Given the description of an element on the screen output the (x, y) to click on. 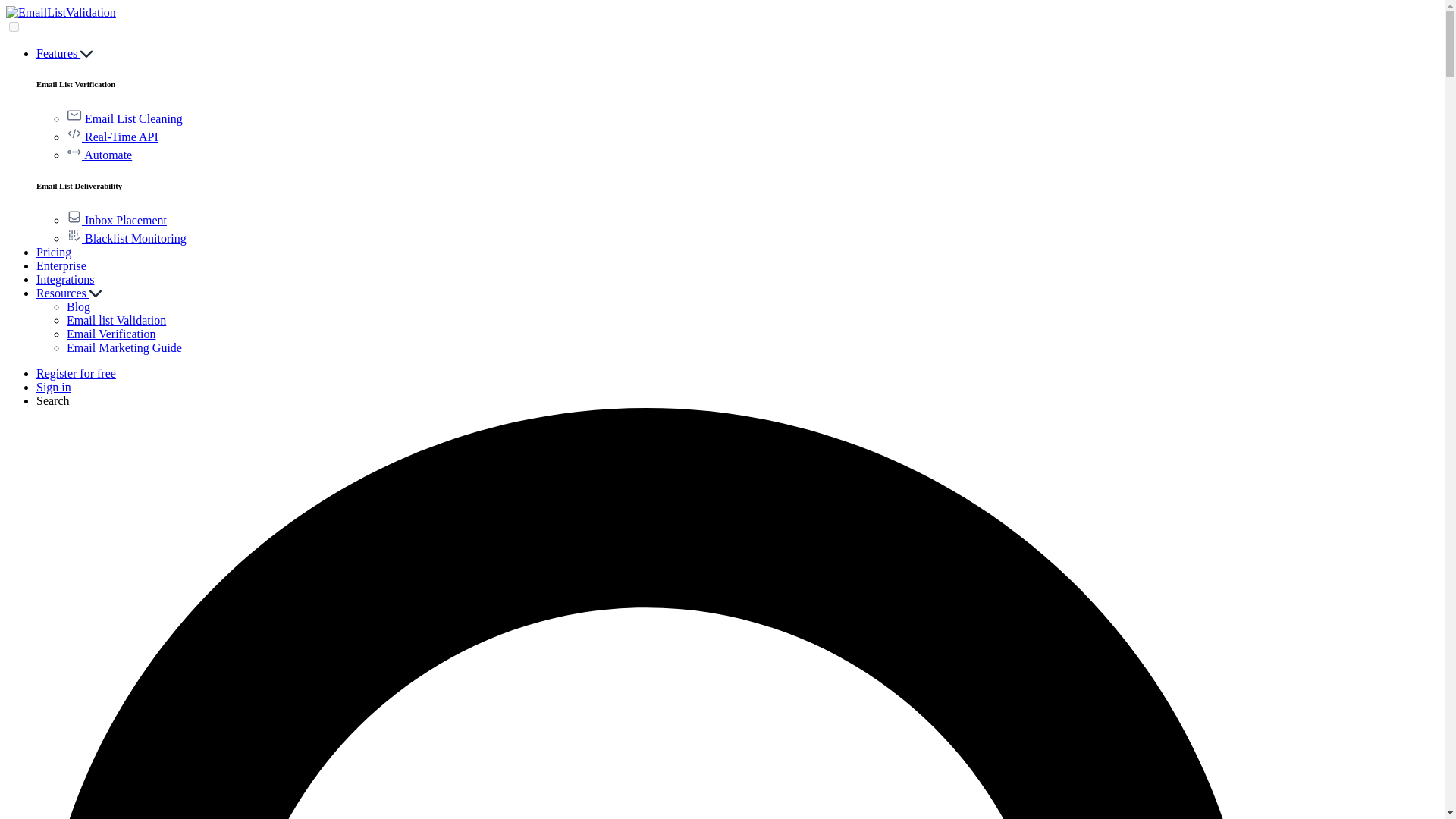
on (13, 26)
Integrations (65, 278)
Resources (68, 292)
Email List Cleaning (124, 118)
Blog (78, 306)
Pricing (53, 251)
Email Verification (110, 333)
Register for free (76, 373)
Email Marketing Guide (124, 347)
Blacklist Monitoring (126, 237)
